Given the description of an element on the screen output the (x, y) to click on. 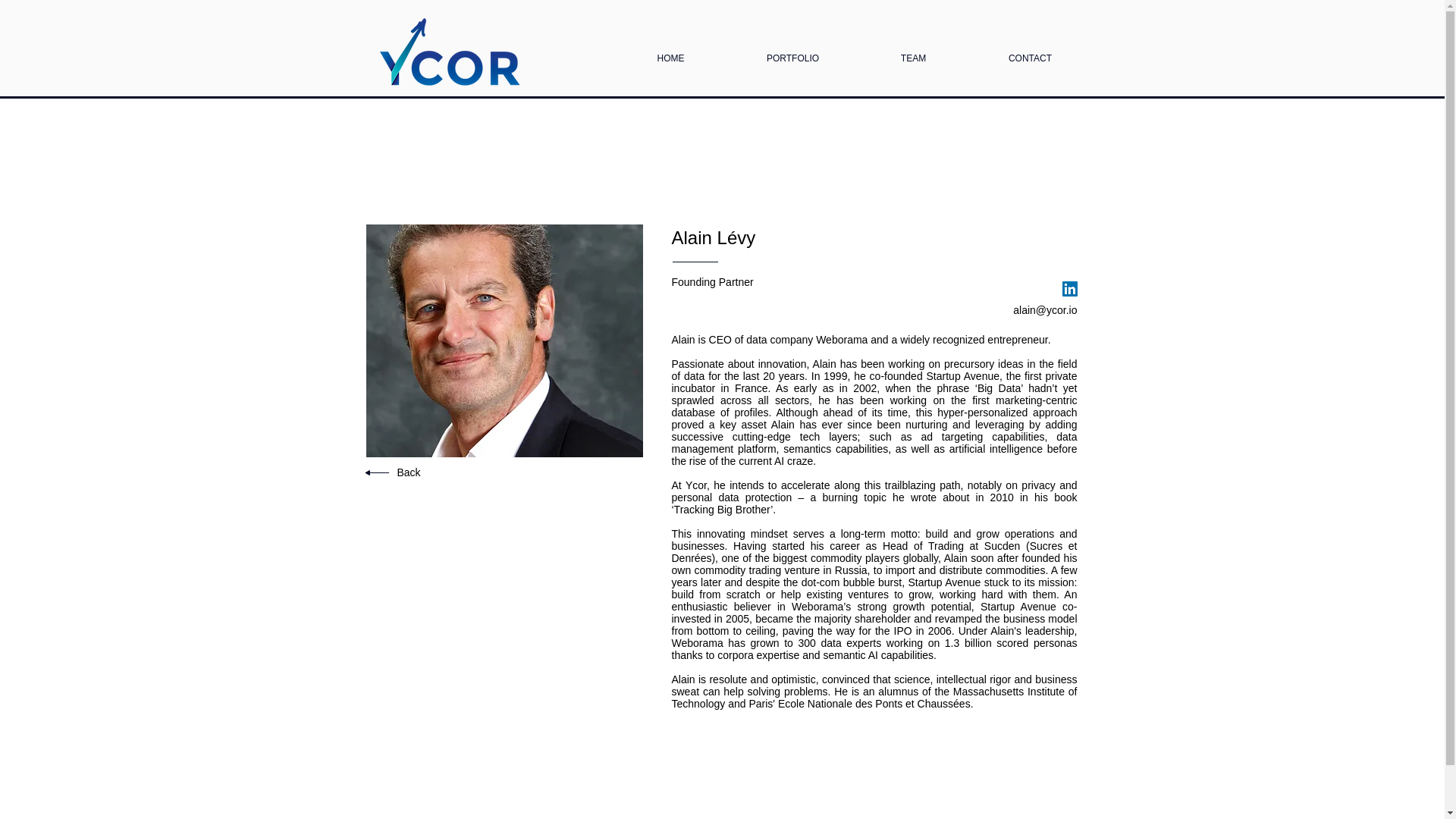
HOME (670, 51)
Back (408, 472)
PORTFOLIO (793, 51)
TEAM (914, 51)
CONTACT (1030, 51)
